Given the description of an element on the screen output the (x, y) to click on. 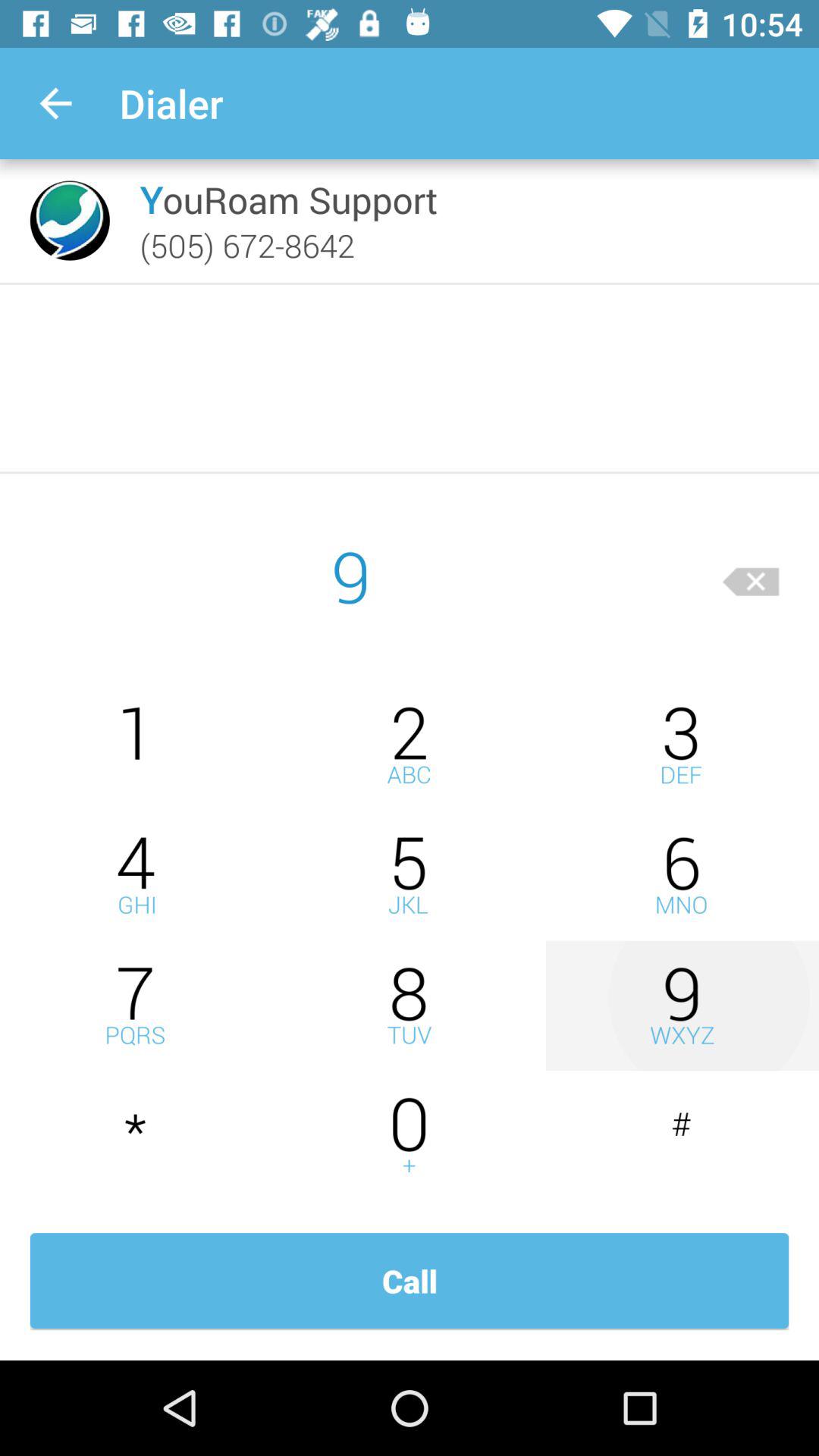
enter zero (409, 1135)
